Given the description of an element on the screen output the (x, y) to click on. 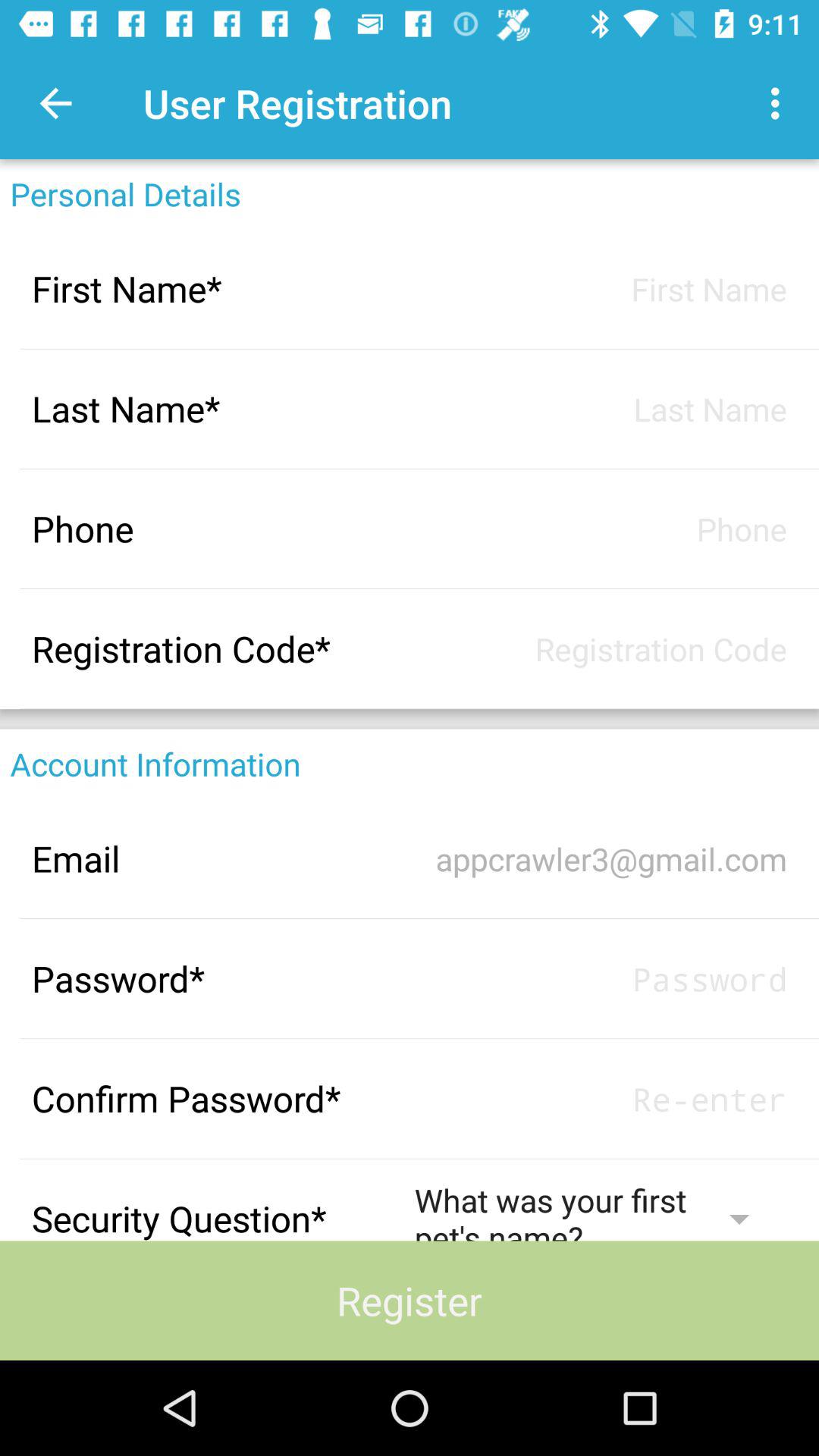
enter password (600, 1098)
